Given the description of an element on the screen output the (x, y) to click on. 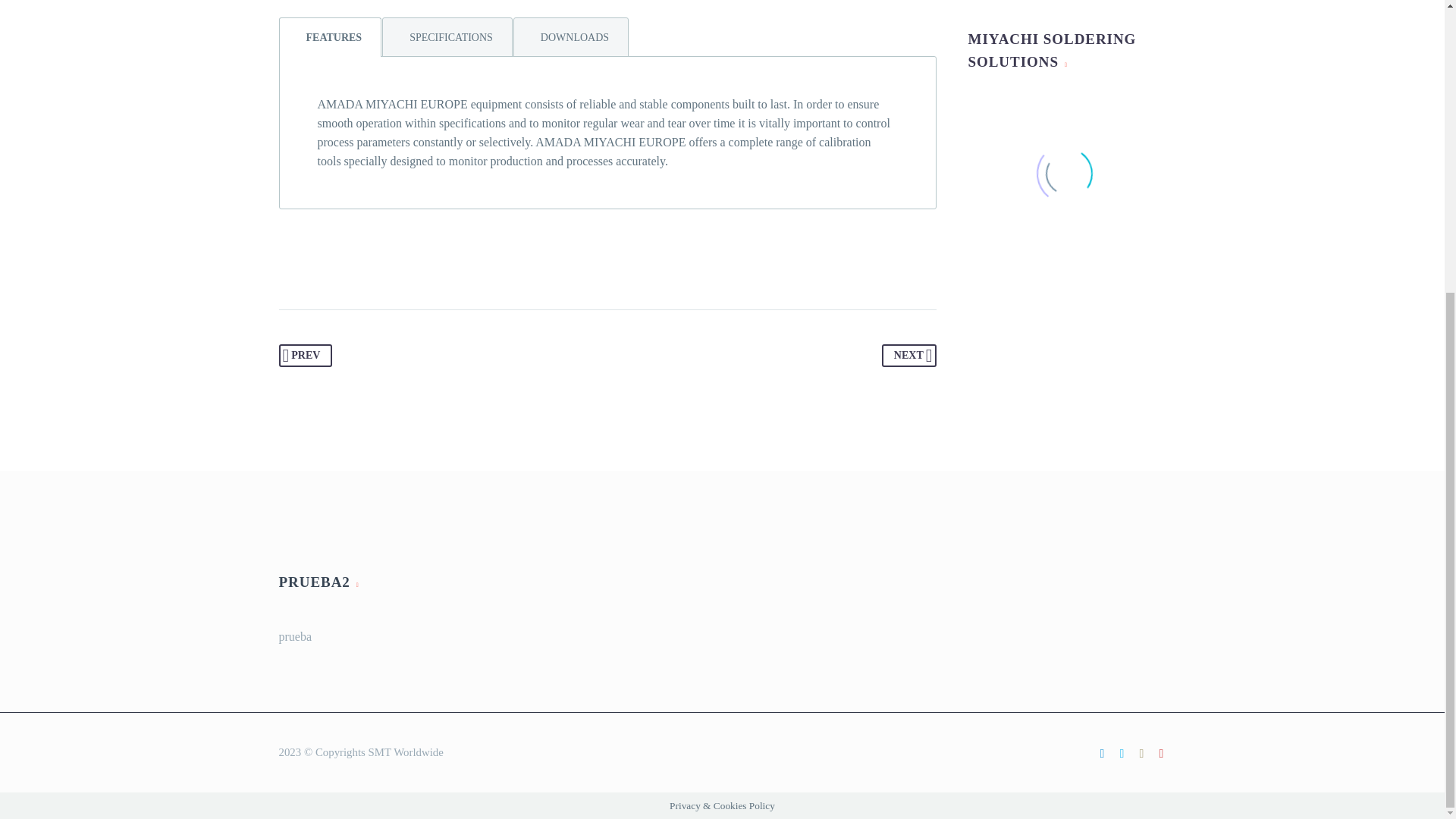
PREV (306, 354)
SPECIFICATIONS (446, 36)
instagram (1141, 753)
DOWNLOADS (570, 36)
FEATURES (330, 36)
youtube (1161, 753)
NEXT (909, 354)
linkedin (1102, 753)
twitter (1122, 753)
